Given the description of an element on the screen output the (x, y) to click on. 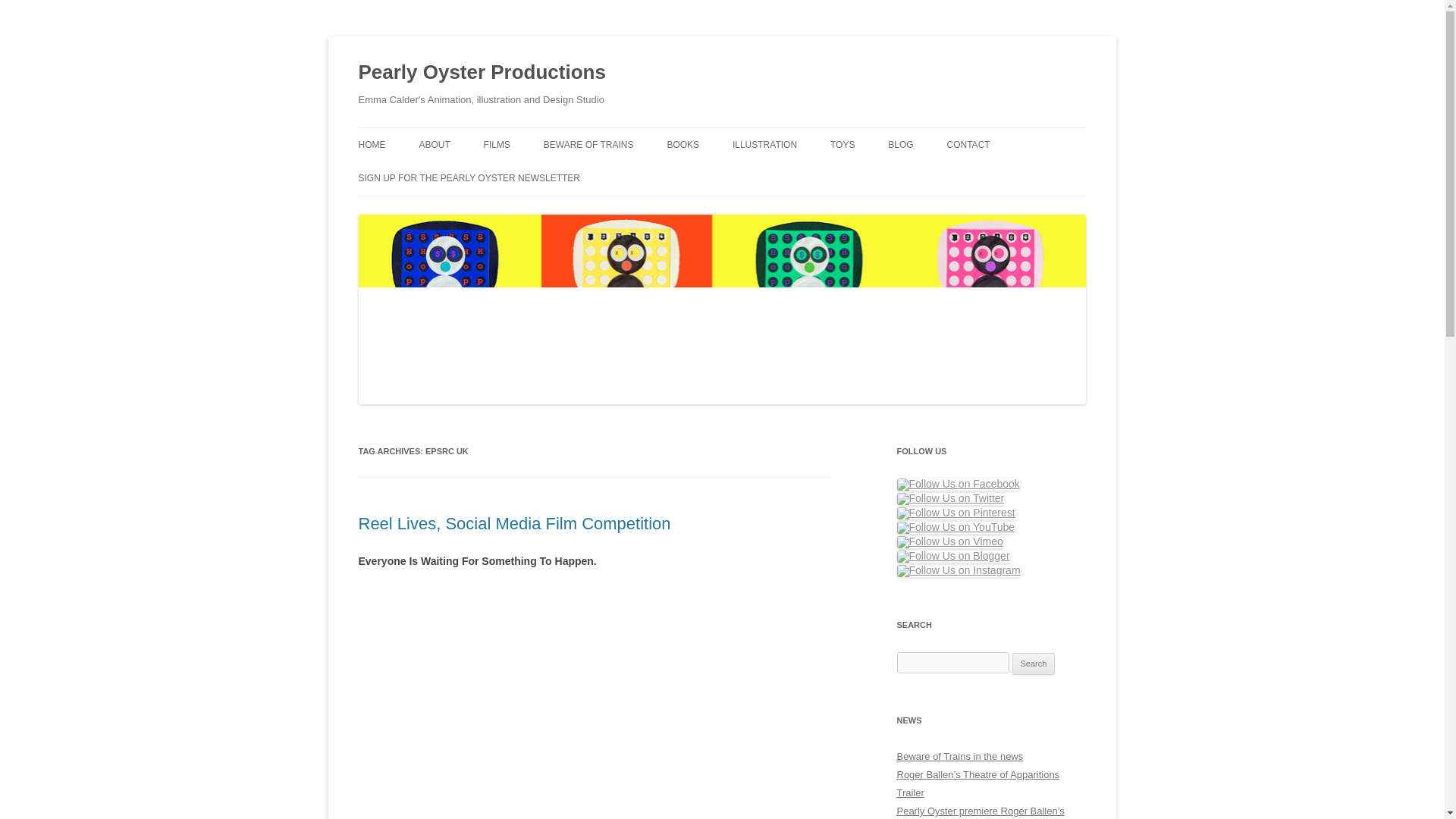
SIGN UP FOR THE PEARLY OYSTER NEWSLETTER (468, 177)
BLOG (900, 144)
RANDOM PERSON (558, 176)
Follow Us on Instagram (958, 571)
STICKERS (742, 176)
Follow Us on YouTube (955, 527)
HOME (371, 144)
Follow Us on Blogger (952, 556)
Follow Us on Vimeo (949, 541)
Pearly Oyster Productions (481, 72)
WATERCOLOUR ILLUSTRATIONS (807, 176)
ABOUT (434, 144)
Follow Us on Twitter (950, 499)
